Given the description of an element on the screen output the (x, y) to click on. 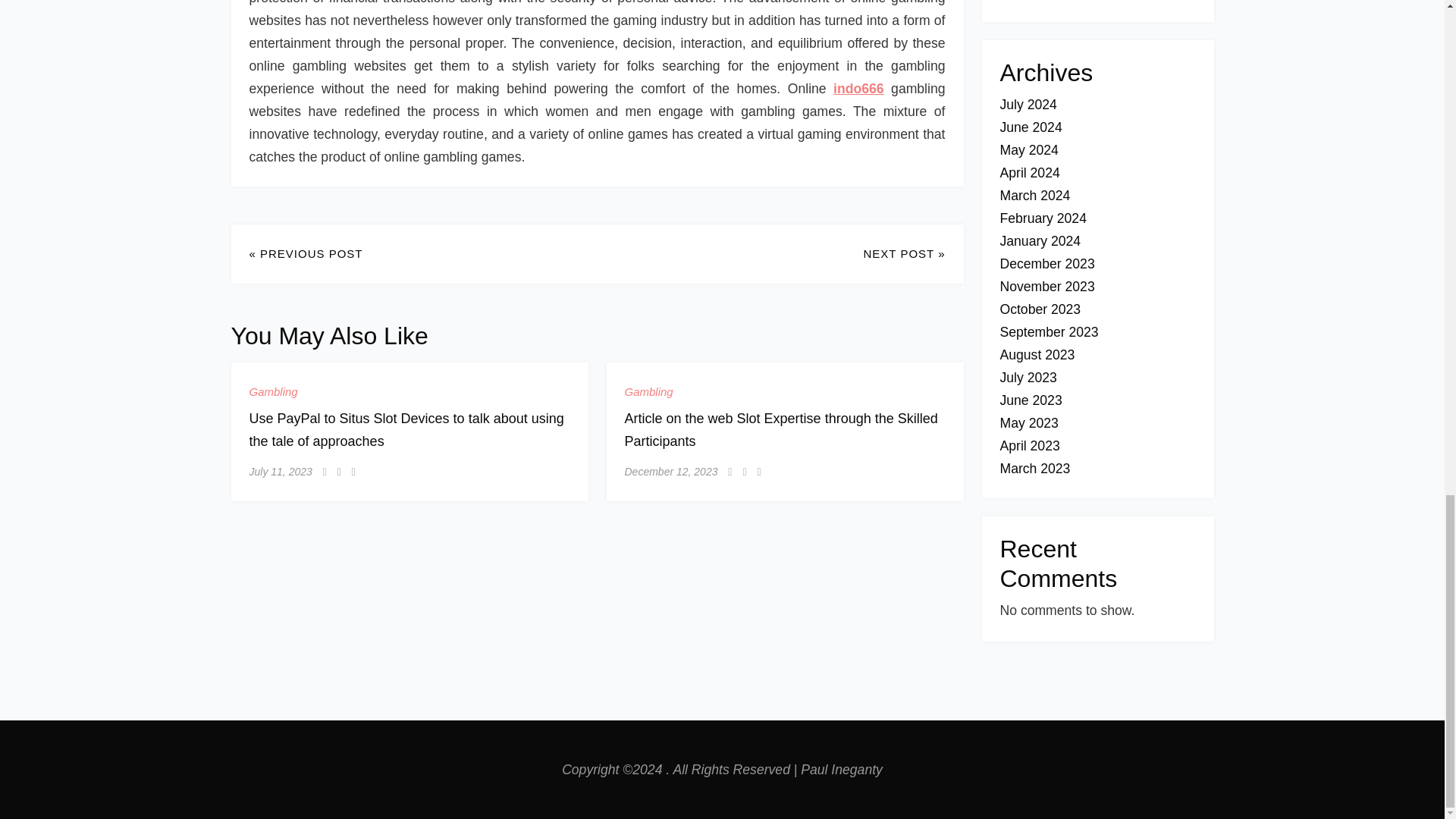
indo666 (857, 88)
July 11, 2023 (279, 471)
Gambling (648, 391)
Gambling (272, 391)
December 12, 2023 (670, 471)
